Given the description of an element on the screen output the (x, y) to click on. 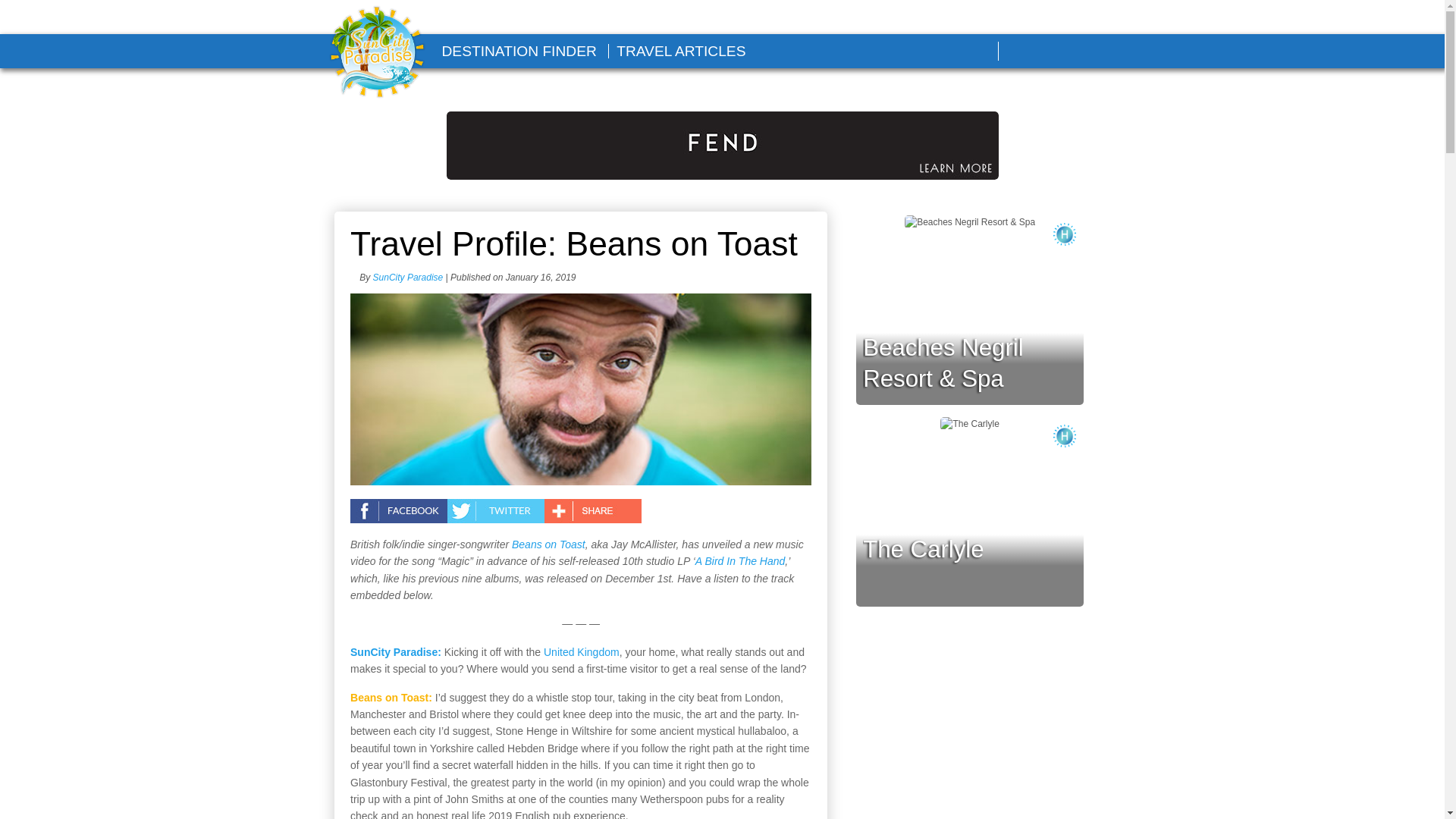
SunCity Paradise: (395, 652)
A Bird In The Hand (740, 561)
Travel Articles (680, 50)
Beans on Toast: (391, 697)
Destination Finder (518, 50)
SunCity Paradise (408, 276)
Instagram (1096, 51)
Beans on Toast (548, 544)
TRAVEL ARTICLES (680, 50)
SunCity Paradise (376, 53)
SunCity Paradise (408, 276)
Facebook (1026, 51)
The Carlyle (923, 549)
United Kingdom (581, 652)
Twitter (1061, 51)
